Given the description of an element on the screen output the (x, y) to click on. 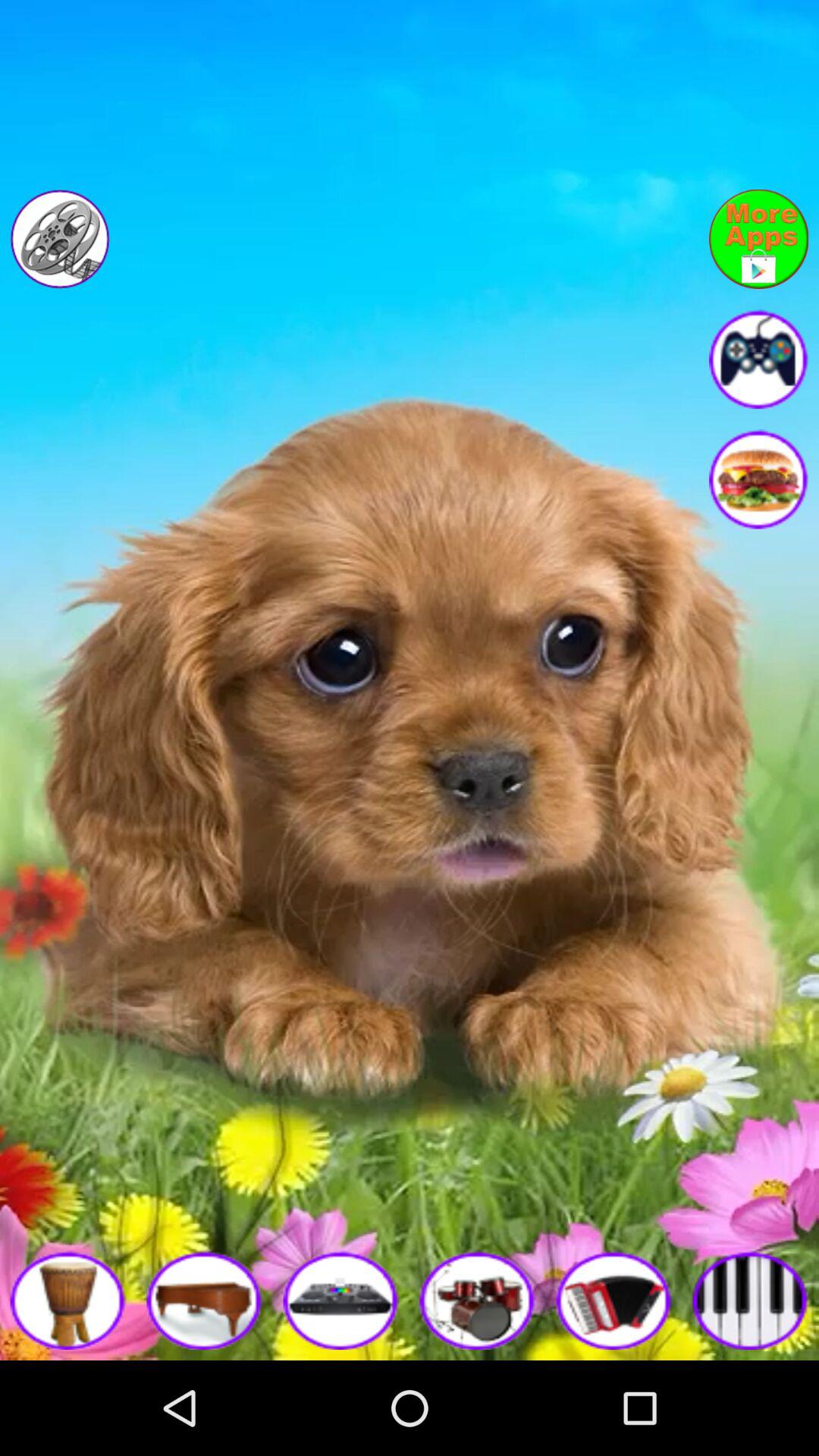
the game is make mind very calm (758, 358)
